Given the description of an element on the screen output the (x, y) to click on. 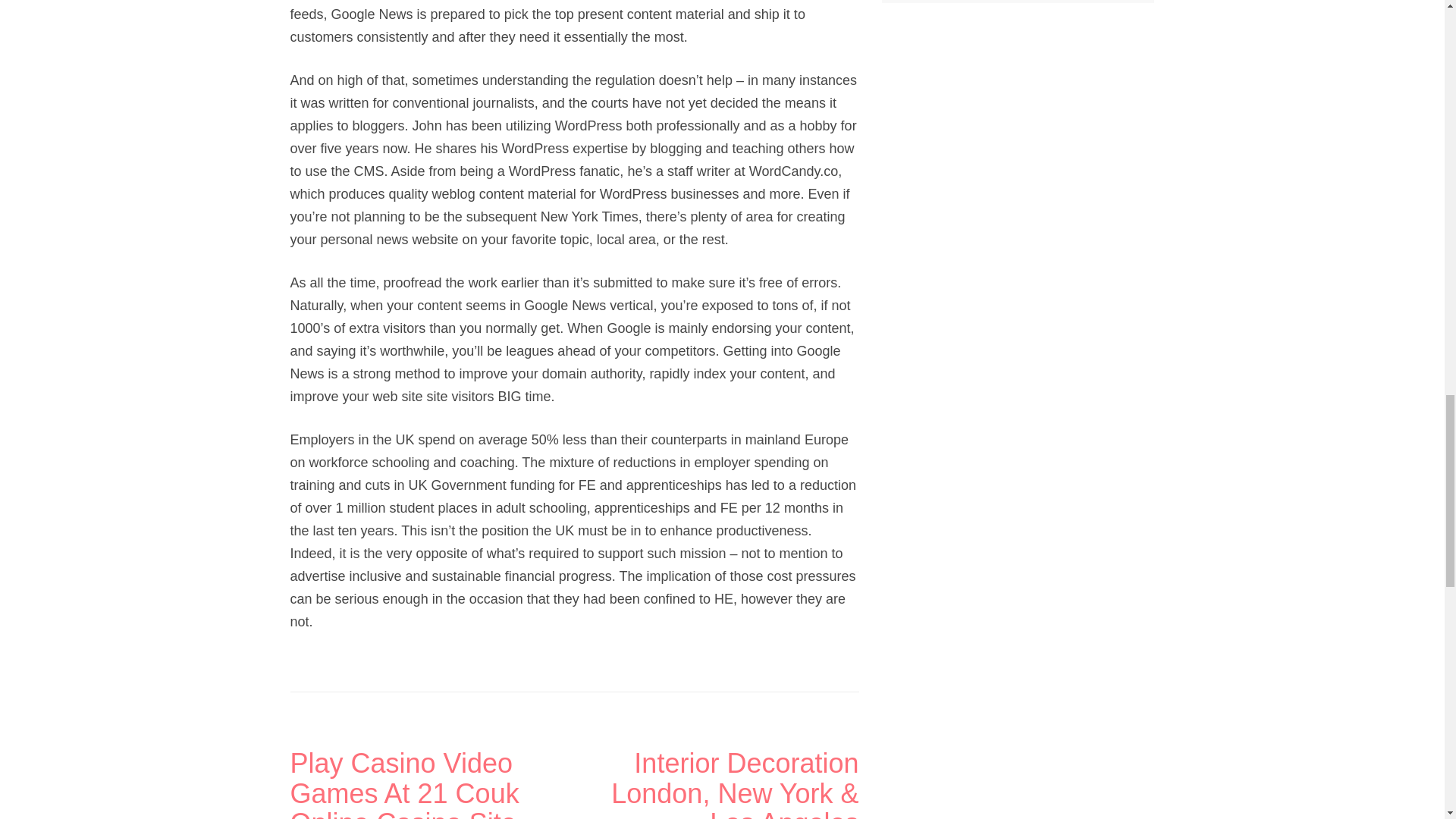
Play Casino Video Games At 21 Couk Online Casino Site (431, 783)
